Given the description of an element on the screen output the (x, y) to click on. 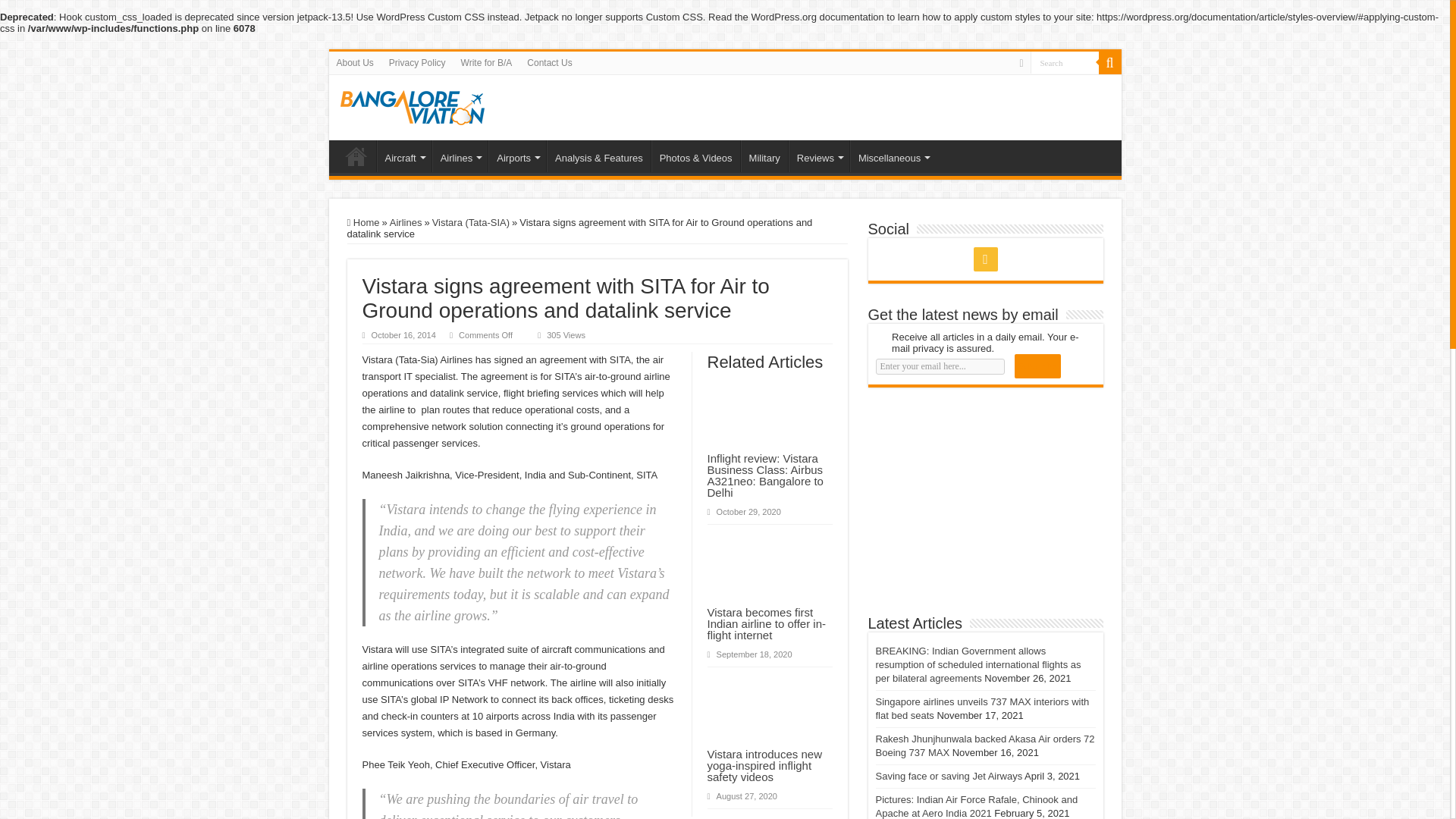
Contact Us (549, 62)
Subscribe (1037, 365)
Search (1063, 62)
Enter your email here... (939, 366)
Bangalore Aviation (411, 104)
Privacy Policy (416, 62)
Home (355, 155)
Airlines (459, 155)
Airports (516, 155)
Search (1063, 62)
